Given the description of an element on the screen output the (x, y) to click on. 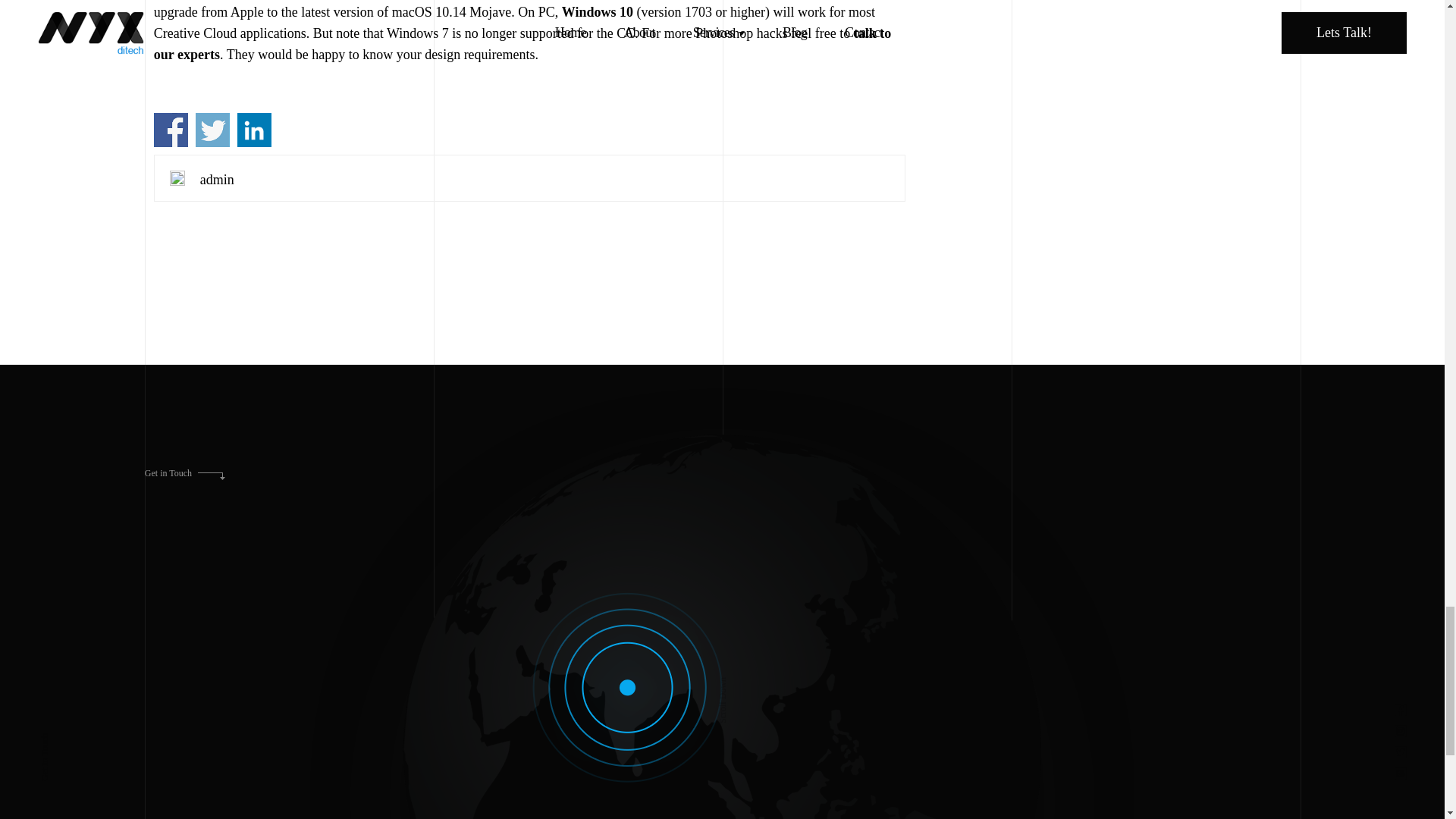
Share on Twitter (212, 130)
talk to our experts (522, 43)
admin (217, 179)
Share on Linkedin (253, 130)
Share on Facebook (170, 130)
